Given the description of an element on the screen output the (x, y) to click on. 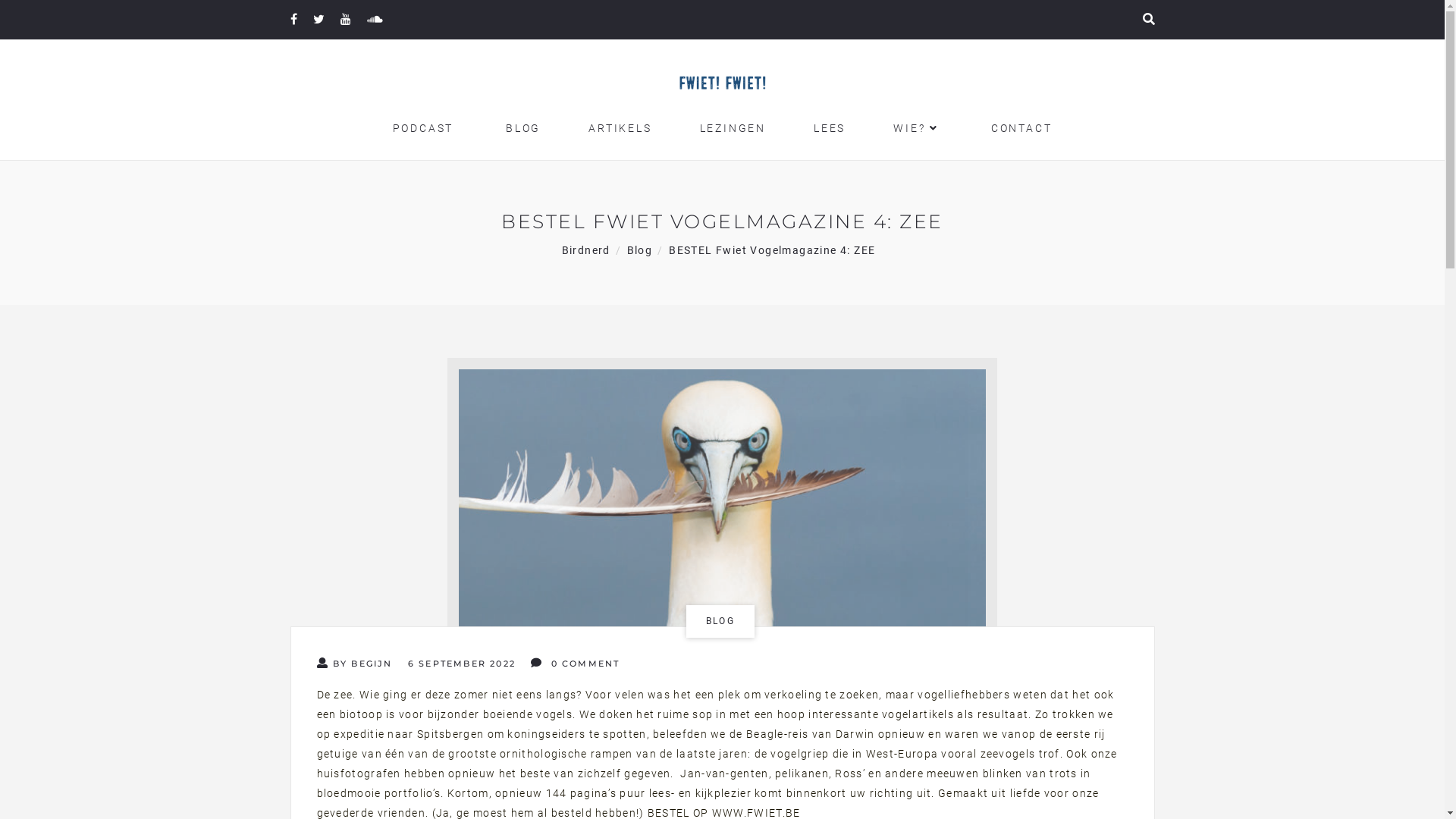
WIE? Element type: text (915, 127)
LEZINGEN Element type: text (732, 127)
Facebook Element type: hover (292, 19)
 BLOG Element type: text (520, 127)
Blog Element type: text (639, 250)
ARTIKELS Element type: text (619, 127)
BY BEGIJN Element type: text (354, 663)
 CONTACT Element type: text (1018, 127)
Soundcloud Element type: hover (374, 19)
0 COMMENT Element type: text (574, 663)
BLOG Element type: text (720, 621)
PODCAST Element type: text (423, 127)
Youtube Element type: hover (344, 19)
Birdnerd Element type: text (585, 250)
Twitter Element type: hover (317, 19)
LEES Element type: text (829, 127)
